Given the description of an element on the screen output the (x, y) to click on. 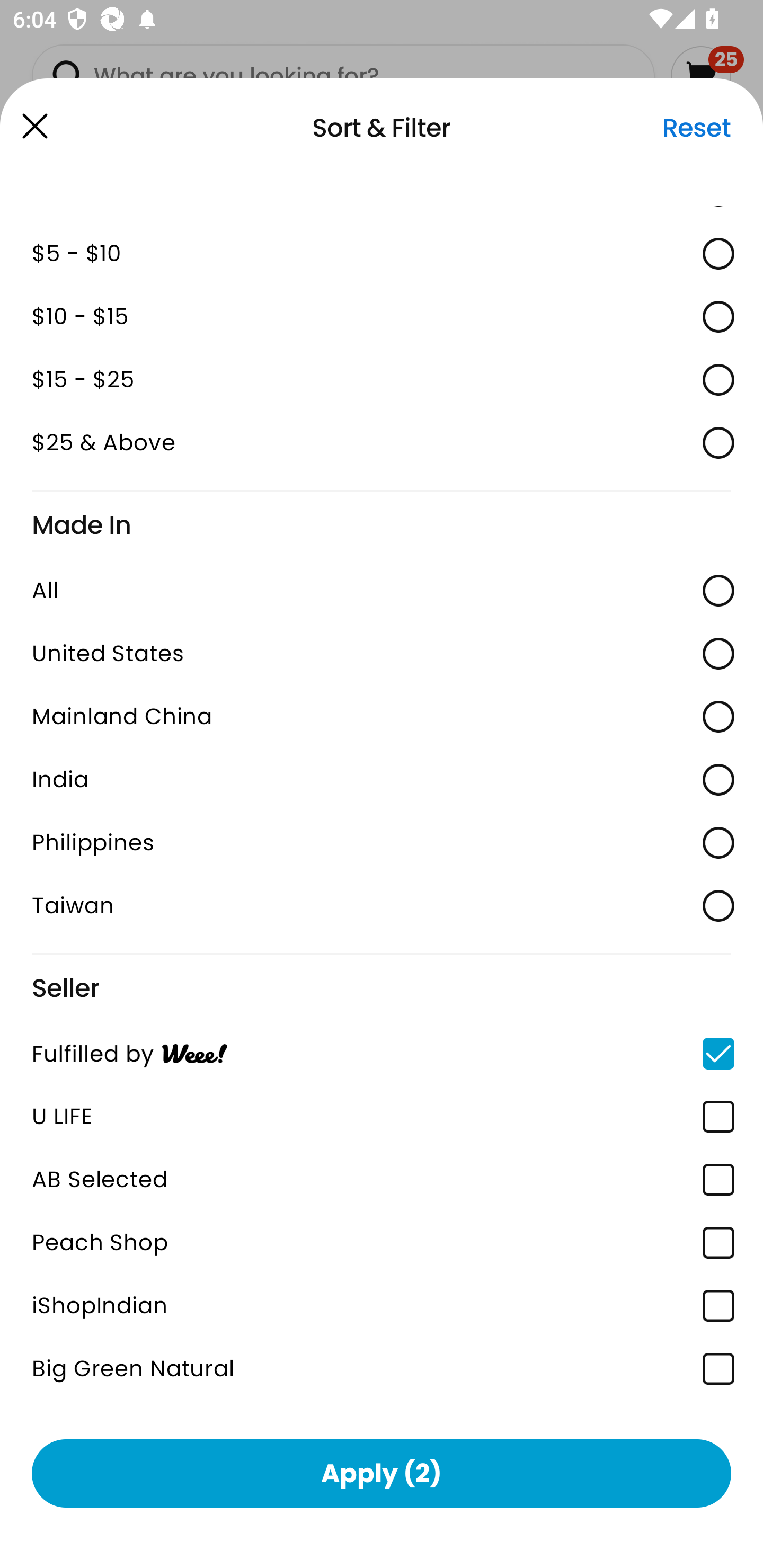
Reset (696, 127)
Apply (2) (381, 1472)
